Given the description of an element on the screen output the (x, y) to click on. 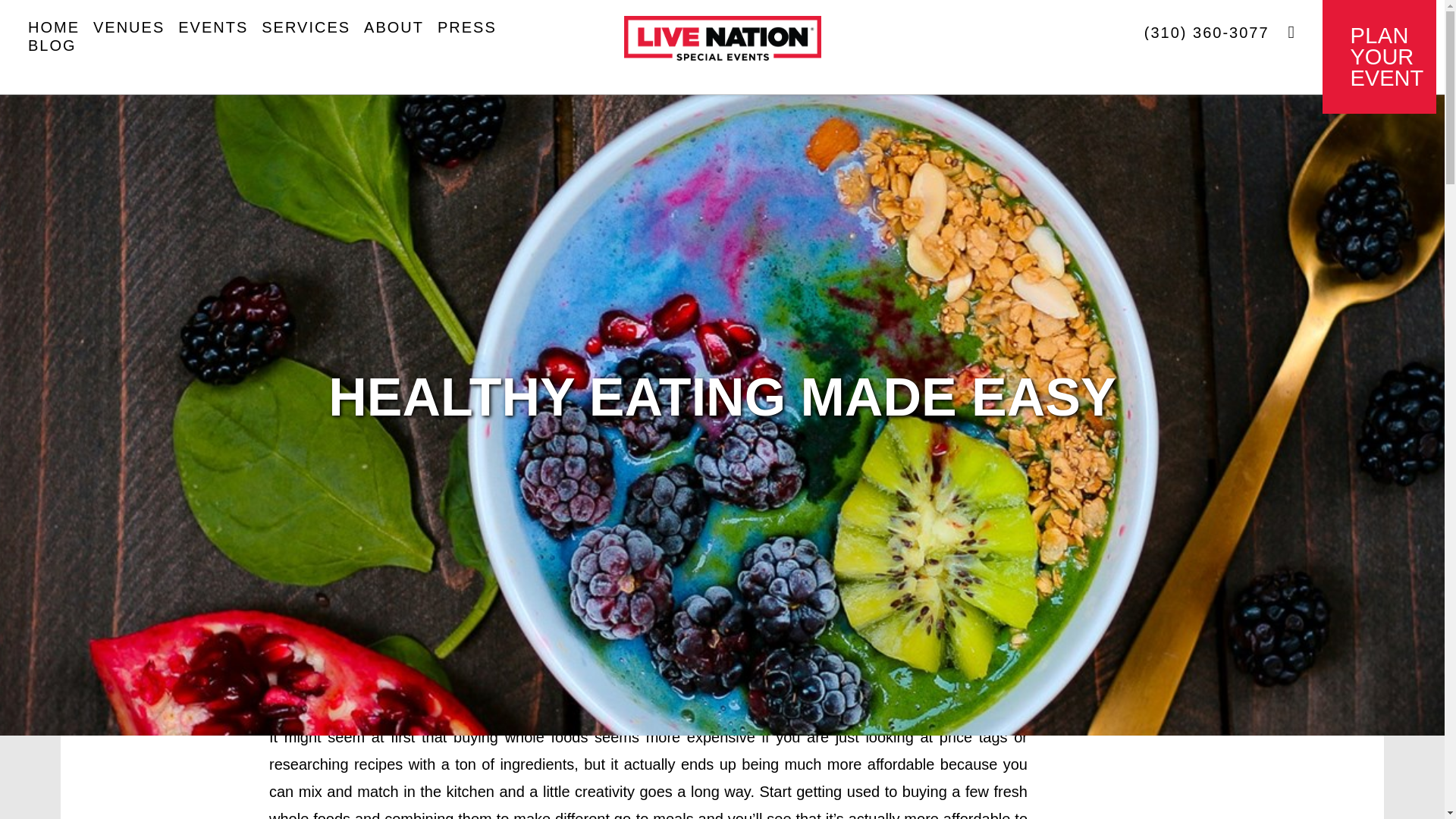
SERVICES (1378, 56)
keto diet (306, 27)
paleo (566, 402)
HOME (439, 375)
ABOUT (53, 27)
VENUES (393, 27)
gluten-free (128, 27)
LiveNation special events (325, 375)
PRESS (722, 29)
